Given the description of an element on the screen output the (x, y) to click on. 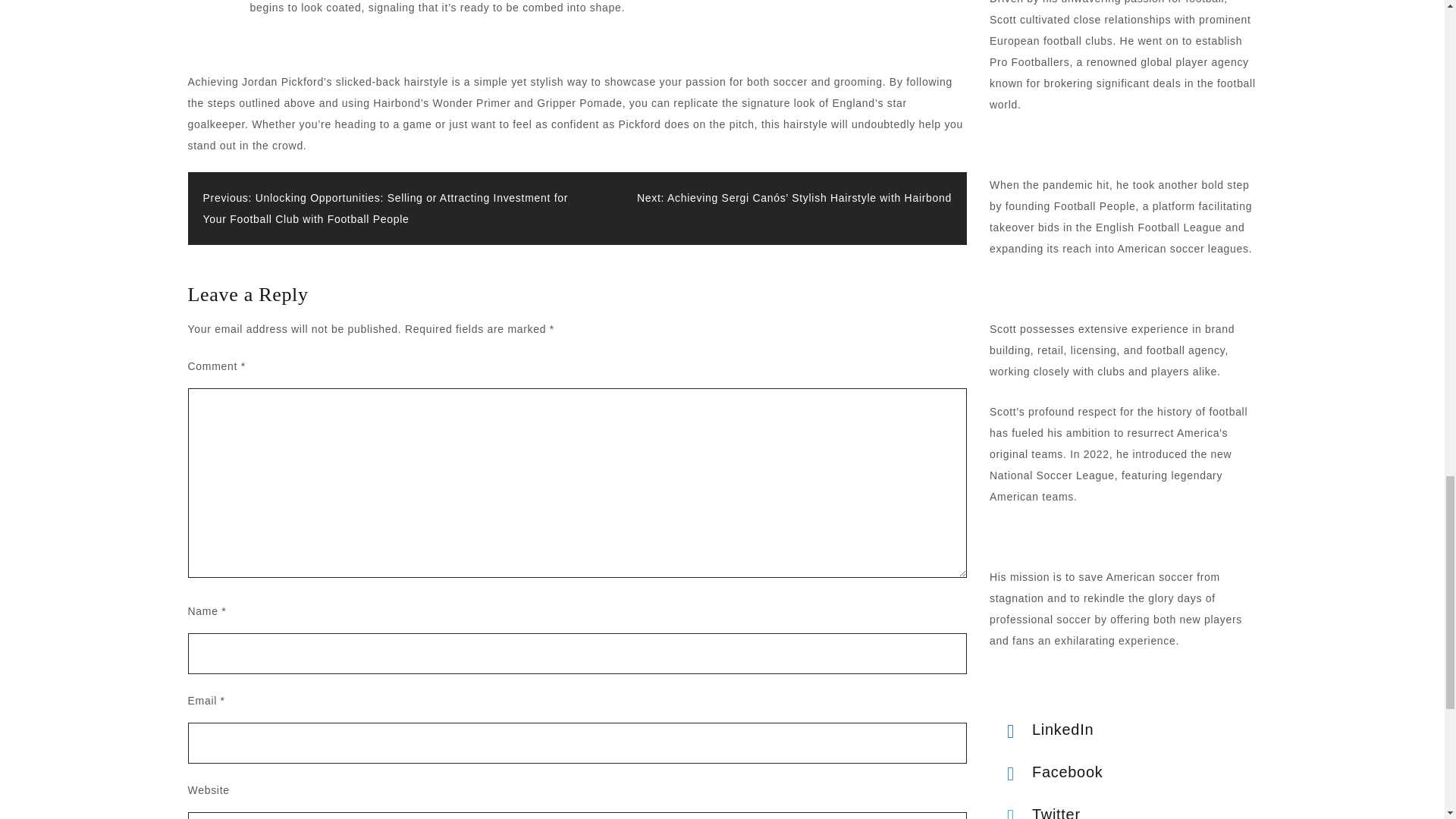
Instagram (1046, 351)
Facebook (1046, 266)
Twitter (1046, 309)
Twitter (1046, 309)
Facebook (1046, 266)
Instagram (1046, 351)
LinkedIn (1046, 224)
LinkedIn (1046, 224)
